Given the description of an element on the screen output the (x, y) to click on. 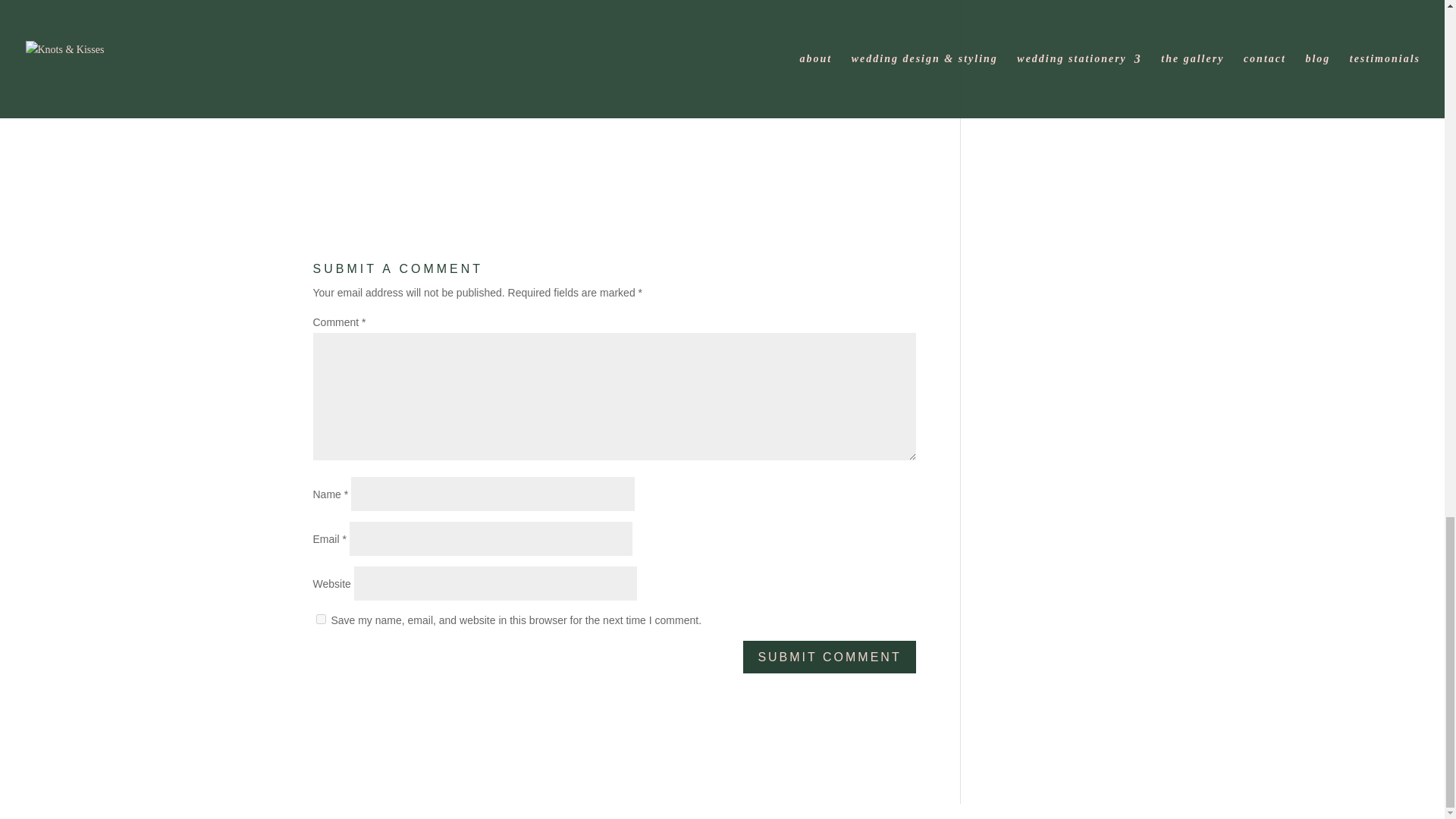
yes (319, 619)
Submit Comment (828, 656)
Submit Comment (828, 656)
